Given the description of an element on the screen output the (x, y) to click on. 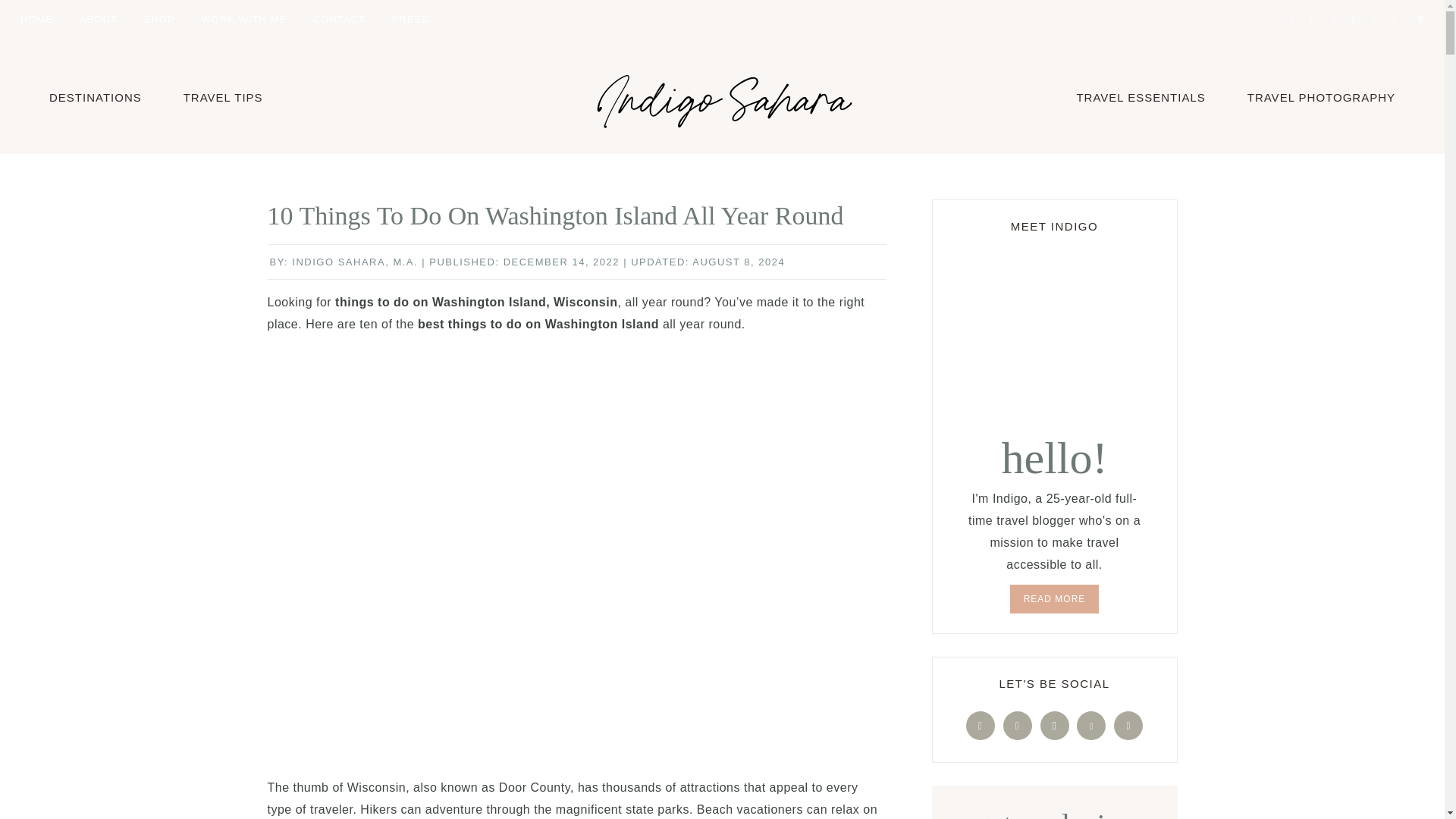
HOME (36, 18)
PRESS (410, 18)
CONTACT (339, 18)
ABOUT (98, 18)
WORK WITH ME (243, 18)
SHOP (159, 18)
